Given the description of an element on the screen output the (x, y) to click on. 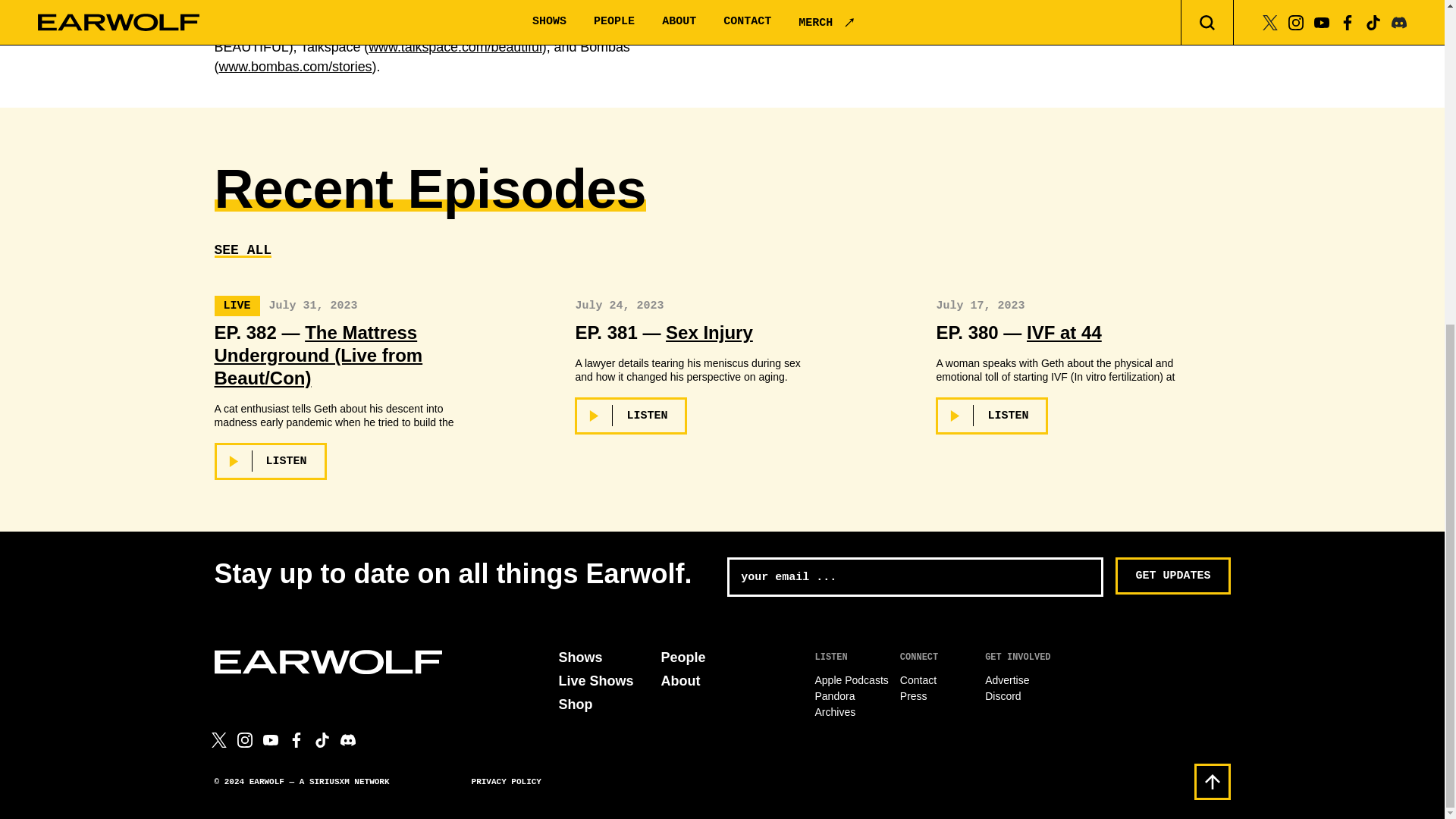
www.wearpact.com (558, 27)
LISTEN (270, 461)
SEE ALL (242, 249)
Get Updates (1172, 575)
Earwolf (327, 662)
